Given the description of an element on the screen output the (x, y) to click on. 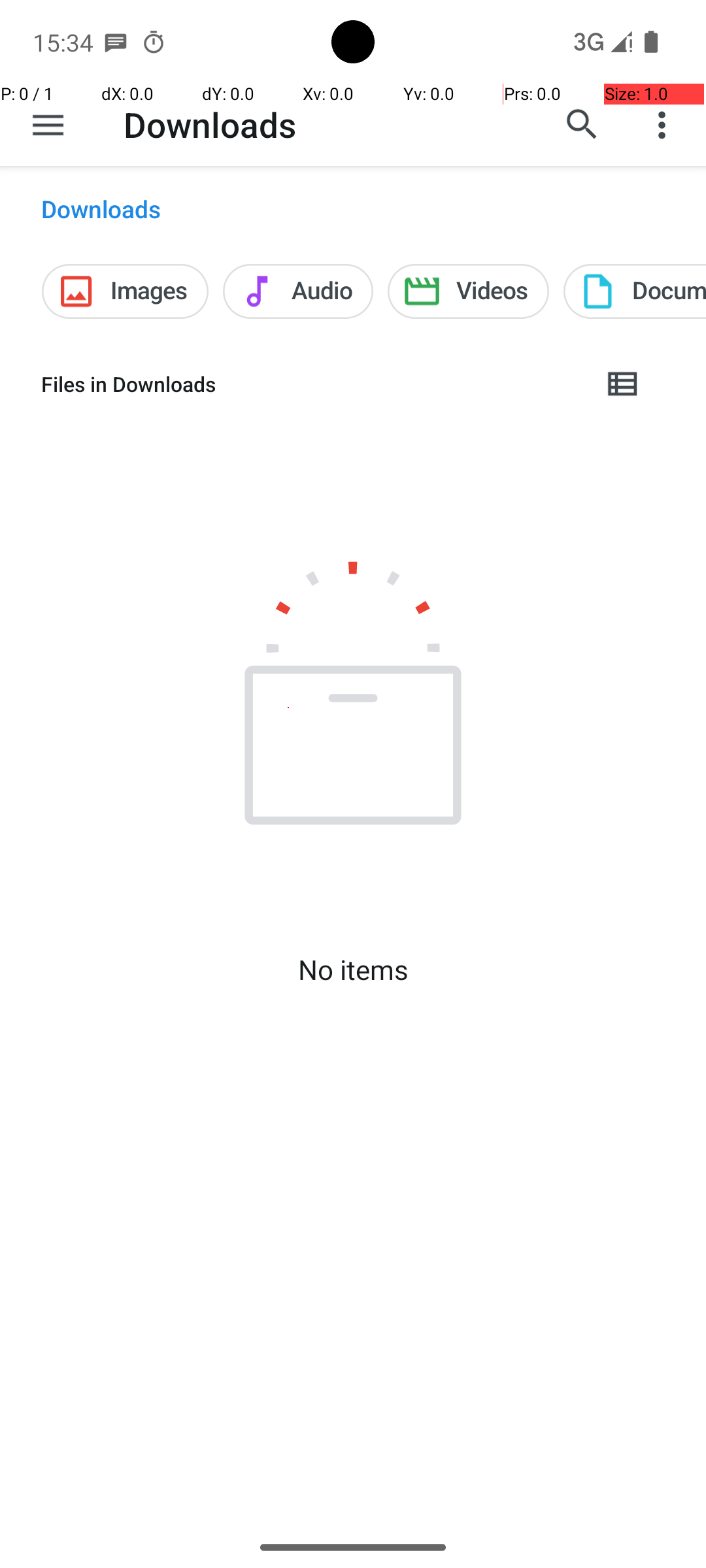
SMS Messenger notification: Amir dos Santos Element type: android.widget.ImageView (115, 41)
